Given the description of an element on the screen output the (x, y) to click on. 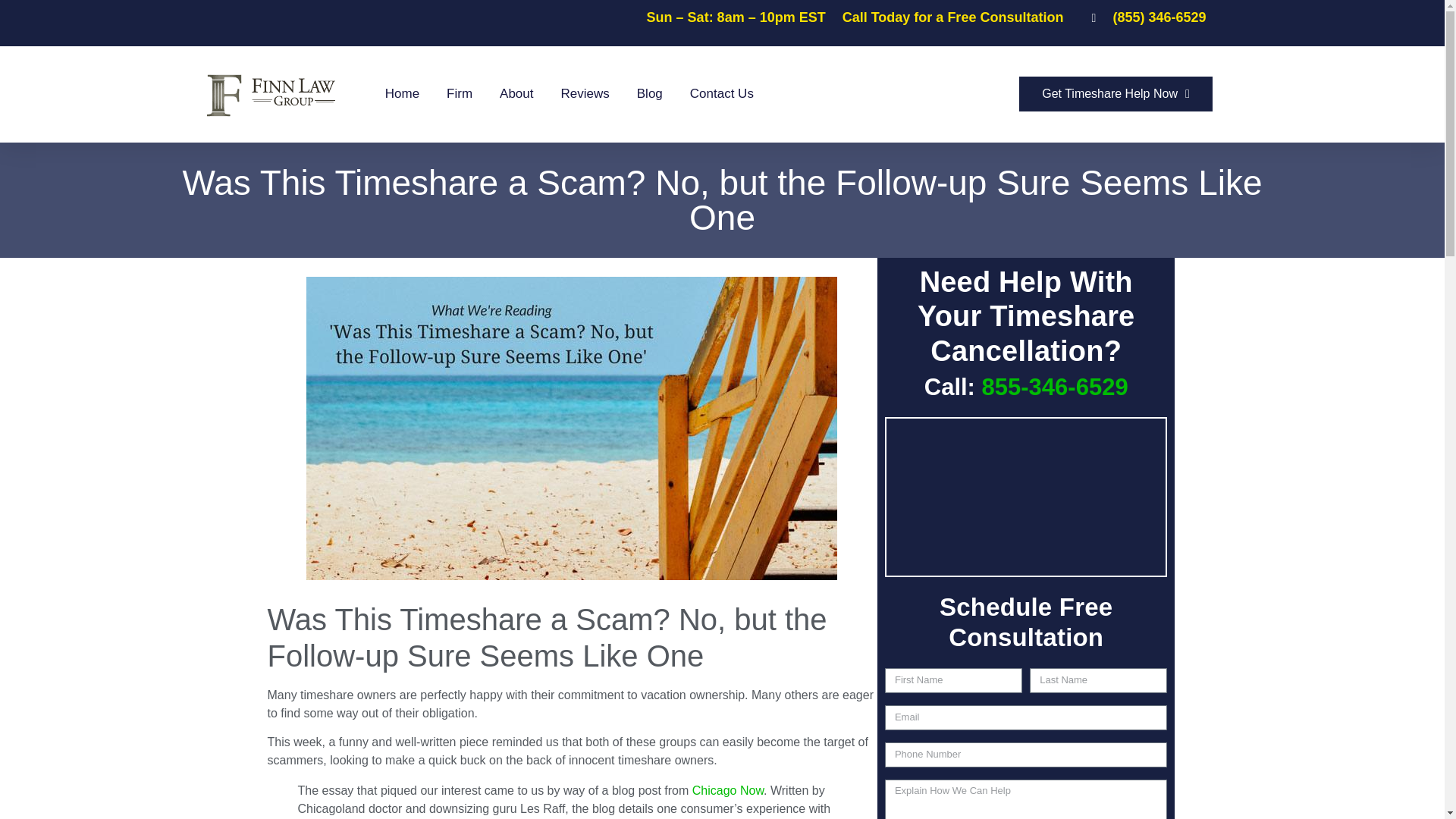
Call Today for a Free Consultation (953, 17)
Home (402, 93)
Reviews (585, 93)
Contact Us (722, 93)
About (515, 93)
